Given the description of an element on the screen output the (x, y) to click on. 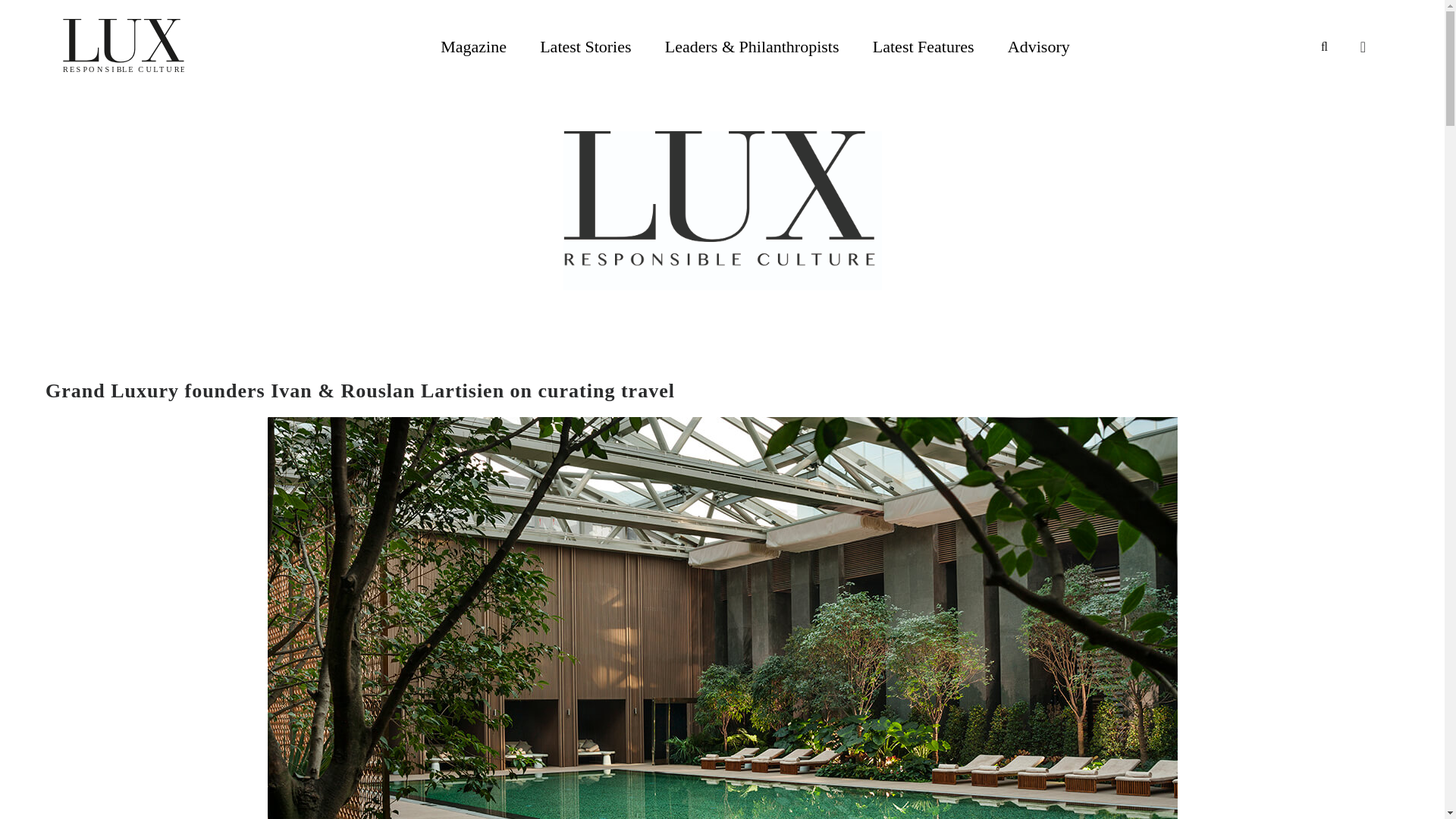
Latest Stories (585, 46)
Magazine (473, 46)
Latest Features (923, 46)
Advisory (1038, 46)
